Given the description of an element on the screen output the (x, y) to click on. 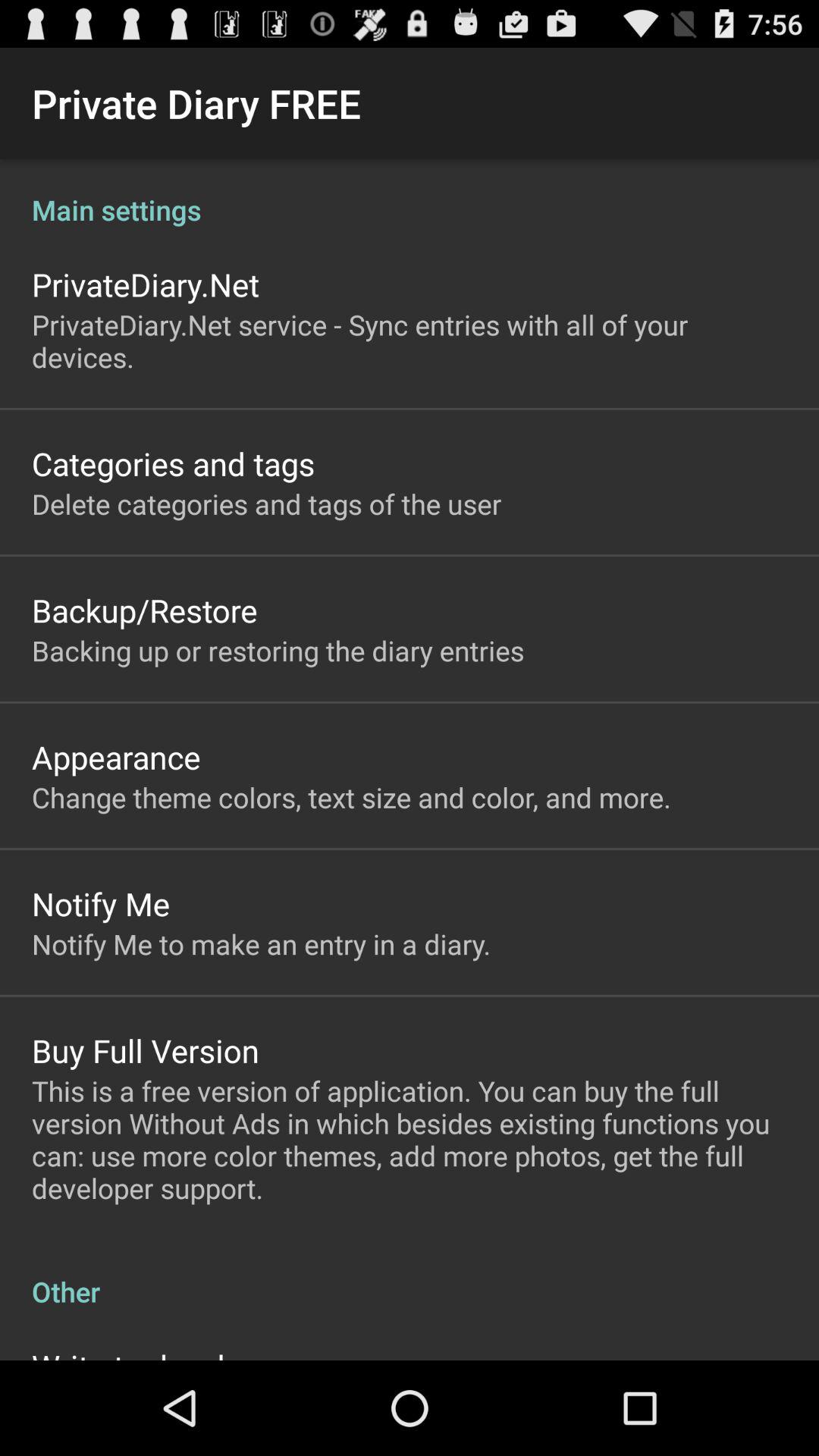
tap the icon below delete categories and item (144, 609)
